Given the description of an element on the screen output the (x, y) to click on. 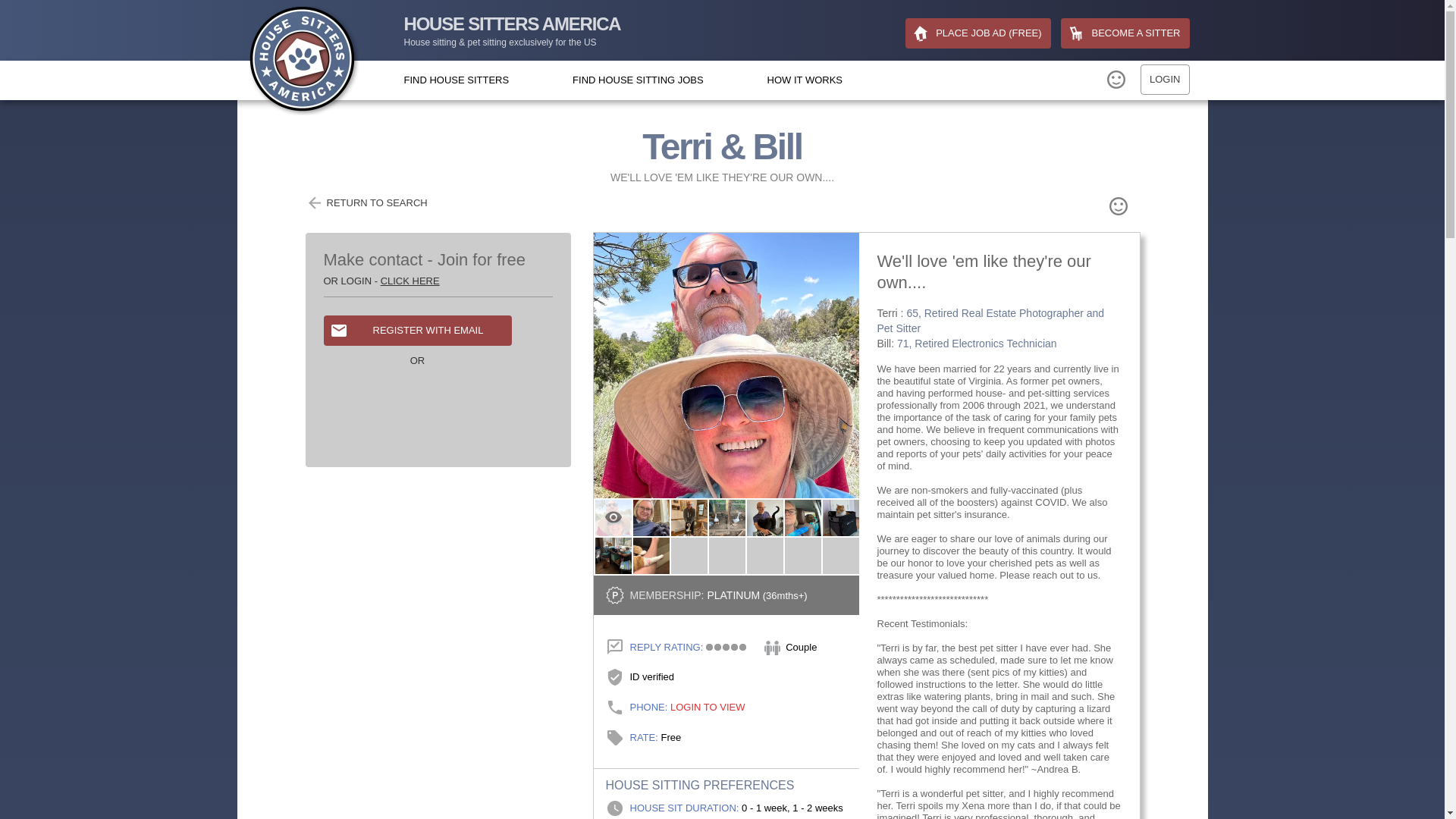
CLICK HERE (409, 280)
BECOME A SITTER (1125, 33)
LOGIN (1164, 79)
FIND HOUSE SITTERS (455, 79)
RETURN TO SEARCH (365, 202)
REGISTER WITH EMAIL (417, 330)
HOW IT WORKS (805, 79)
FIND HOUSE SITTING JOBS (637, 79)
